Given the description of an element on the screen output the (x, y) to click on. 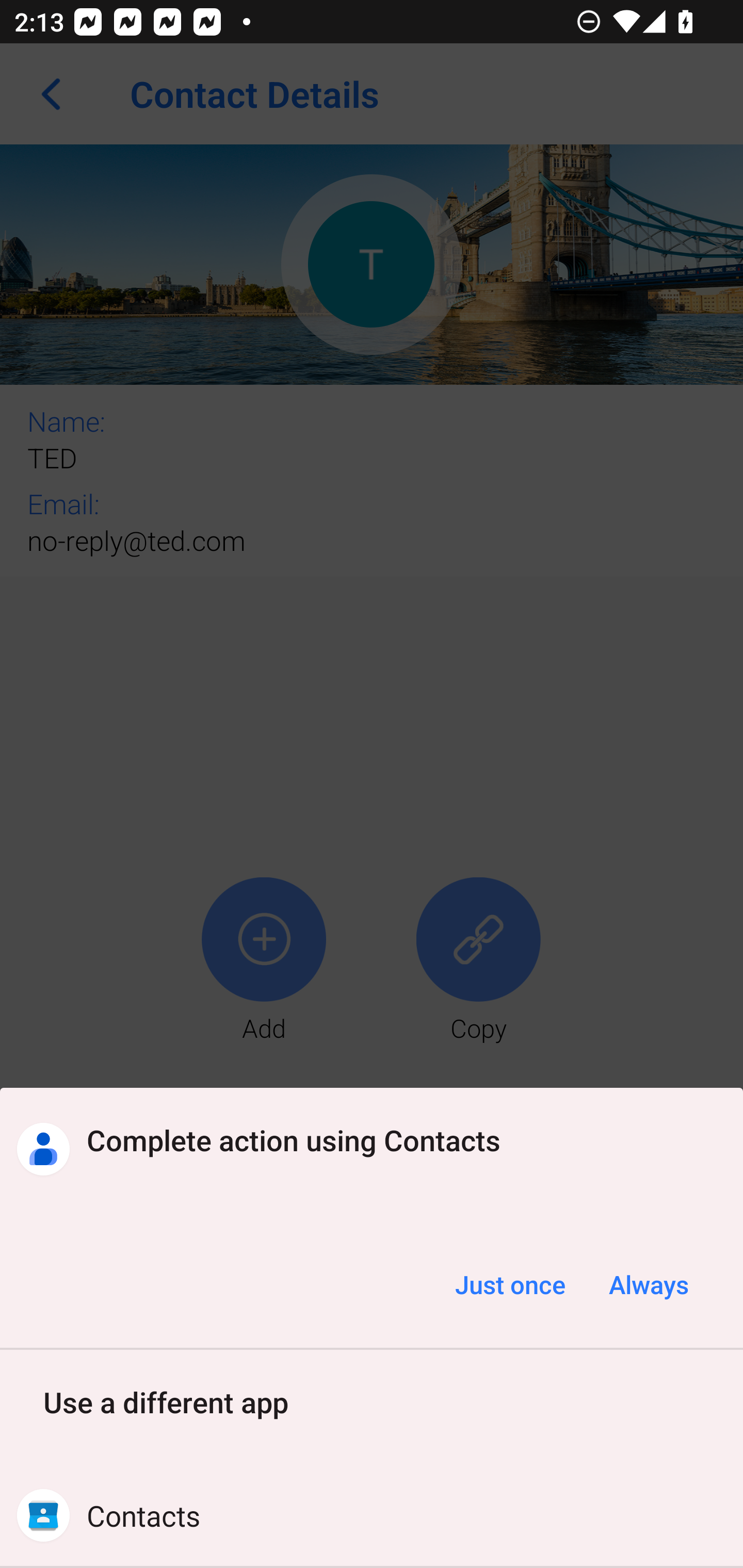
Just once (509, 1283)
Always (648, 1283)
Contacts (371, 1515)
